Given the description of an element on the screen output the (x, y) to click on. 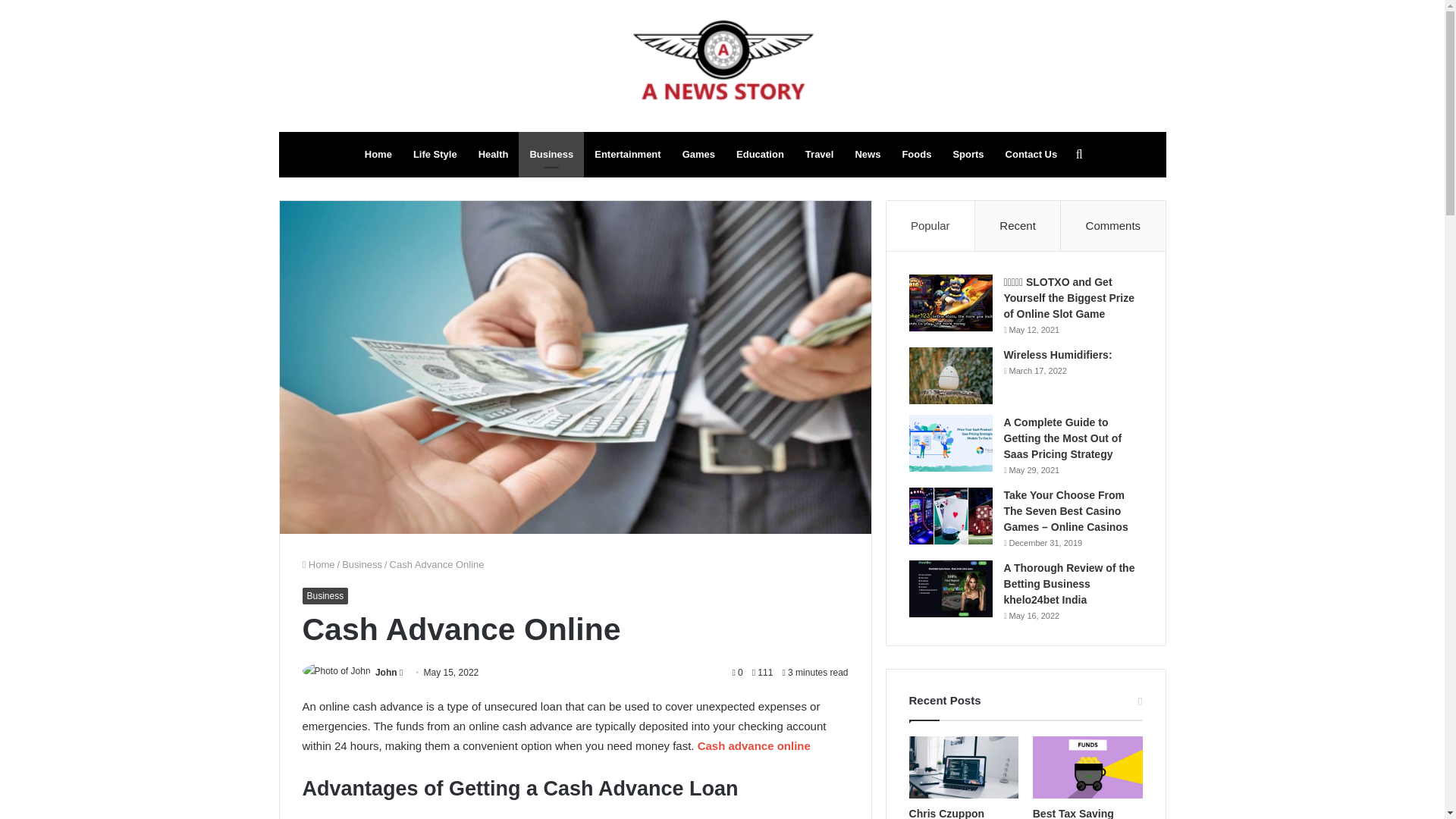
Health (493, 154)
John (386, 672)
Foods (916, 154)
Travel (819, 154)
Games (698, 154)
Entertainment (627, 154)
News (867, 154)
Business (361, 564)
Home (378, 154)
Sports (968, 154)
Business (324, 596)
Cash advance online (753, 745)
Contact Us (1031, 154)
Home (317, 564)
John (386, 672)
